Given the description of an element on the screen output the (x, y) to click on. 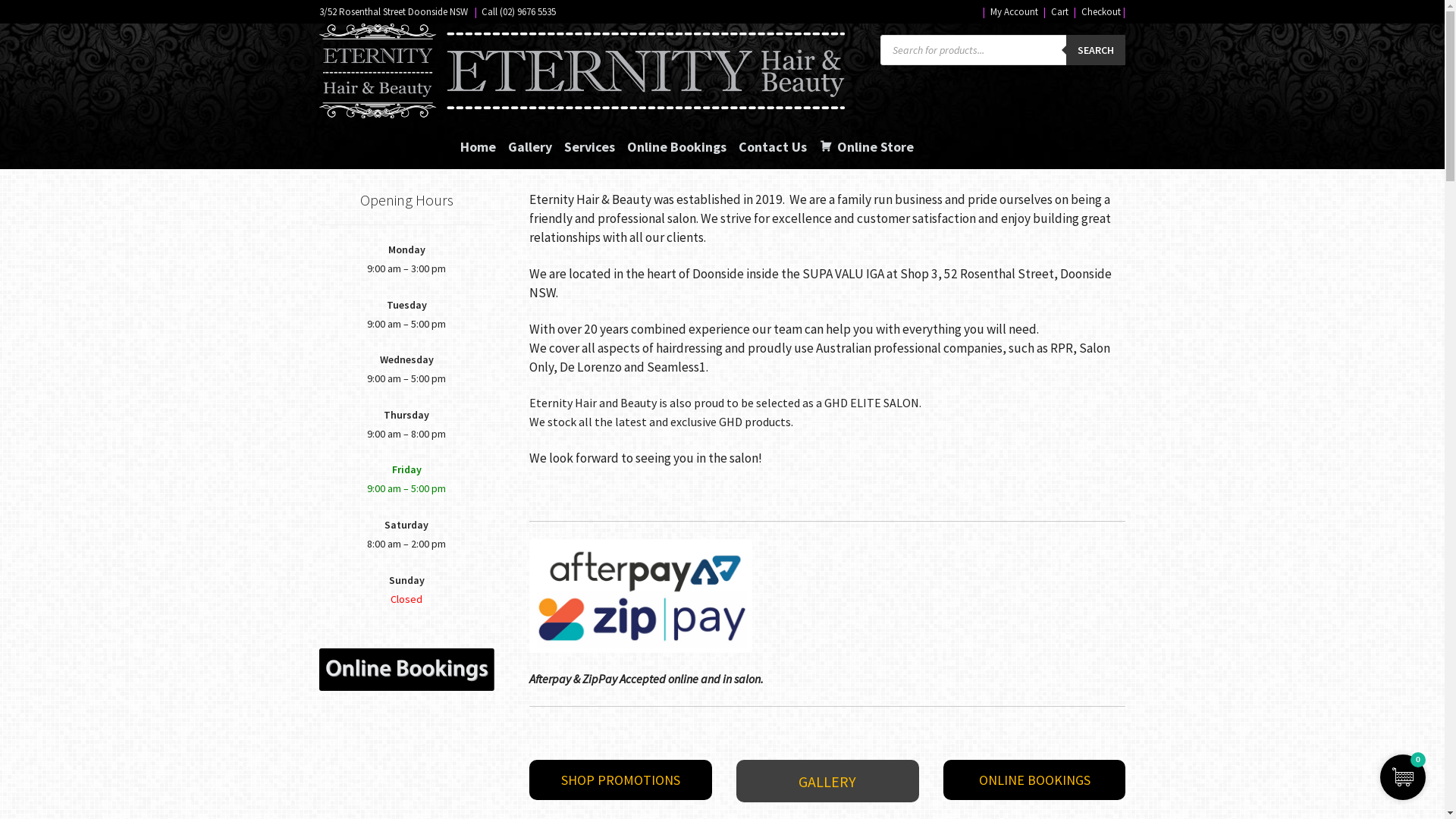
Checkout Element type: text (1100, 11)
3/52 Rosenthal Street Doonside NSW Element type: text (393, 11)
Contact Us Element type: text (772, 139)
ONLINE BOOKINGS Element type: text (1034, 779)
Call (02) 9676 5535 Element type: text (518, 11)
Online Bookings Element type: text (676, 139)
GALLERY Element type: text (827, 780)
Online Store Element type: text (865, 139)
SHOP PROMOTIONS Element type: text (620, 779)
SEARCH Element type: text (1095, 49)
My Account Element type: text (1014, 11)
Services Element type: text (589, 139)
Cart Element type: text (1059, 11)
Home Element type: text (478, 139)
Gallery Element type: text (530, 139)
